Given the description of an element on the screen output the (x, y) to click on. 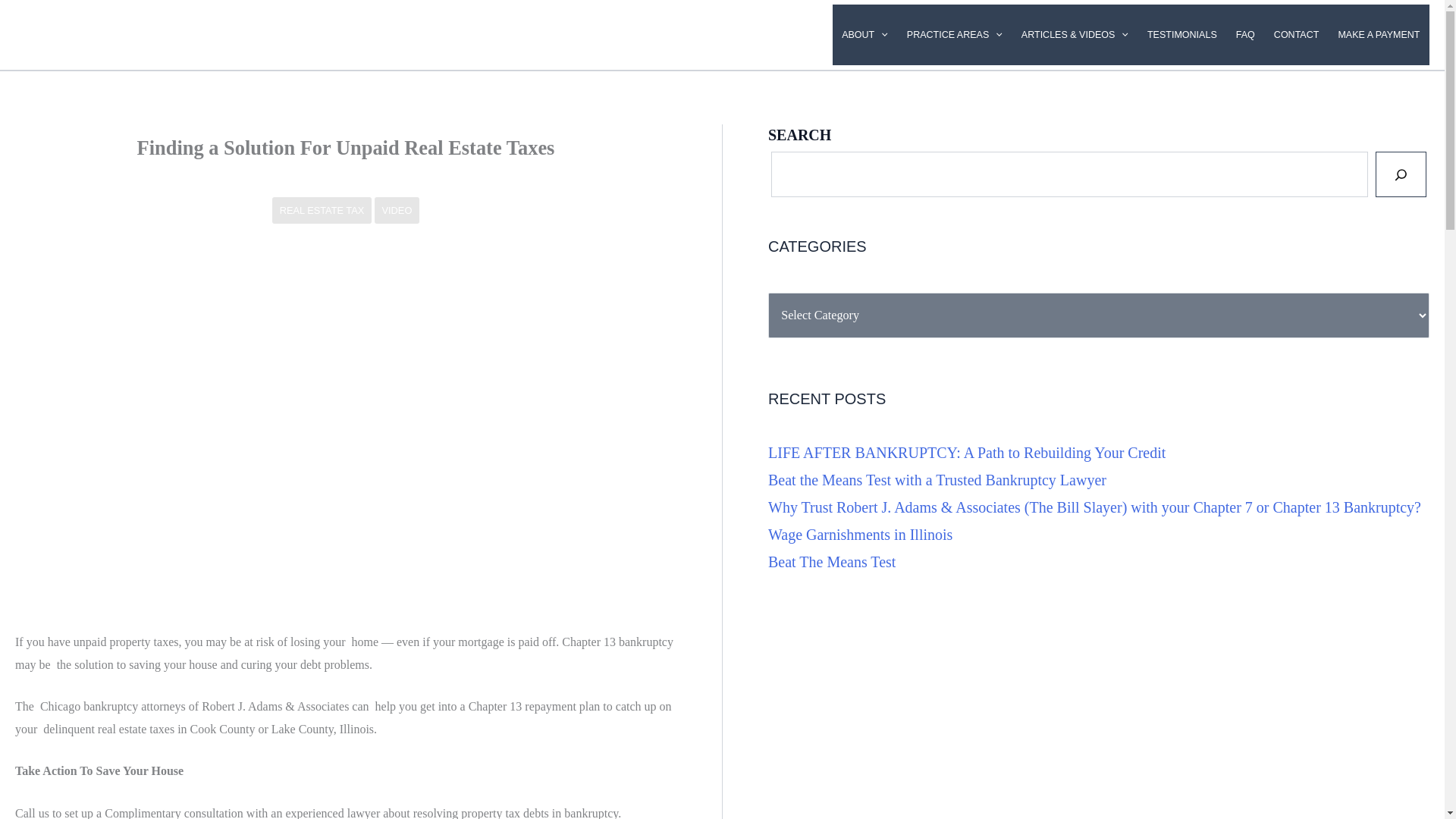
CONTACT (1295, 34)
The Bill Slayer (93, 24)
PRACTICE AREAS (953, 34)
MAKE A PAYMENT (1378, 34)
ABOUT (865, 34)
TESTIMONIALS (1181, 34)
